Given the description of an element on the screen output the (x, y) to click on. 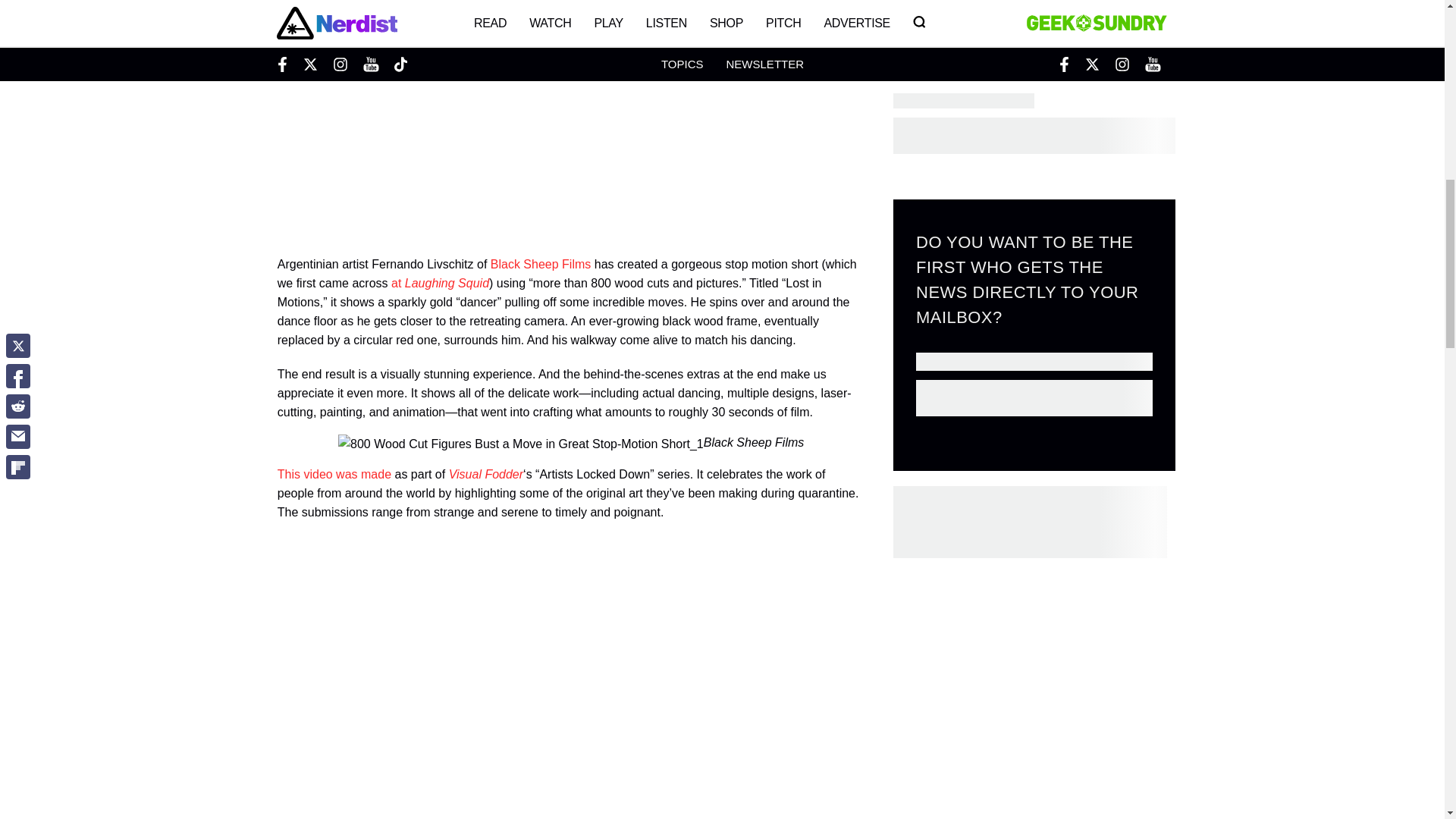
Black Sheep Films (540, 264)
at Laughing Squid (440, 282)
This video was made (334, 473)
Visual Fodder (485, 473)
